Given the description of an element on the screen output the (x, y) to click on. 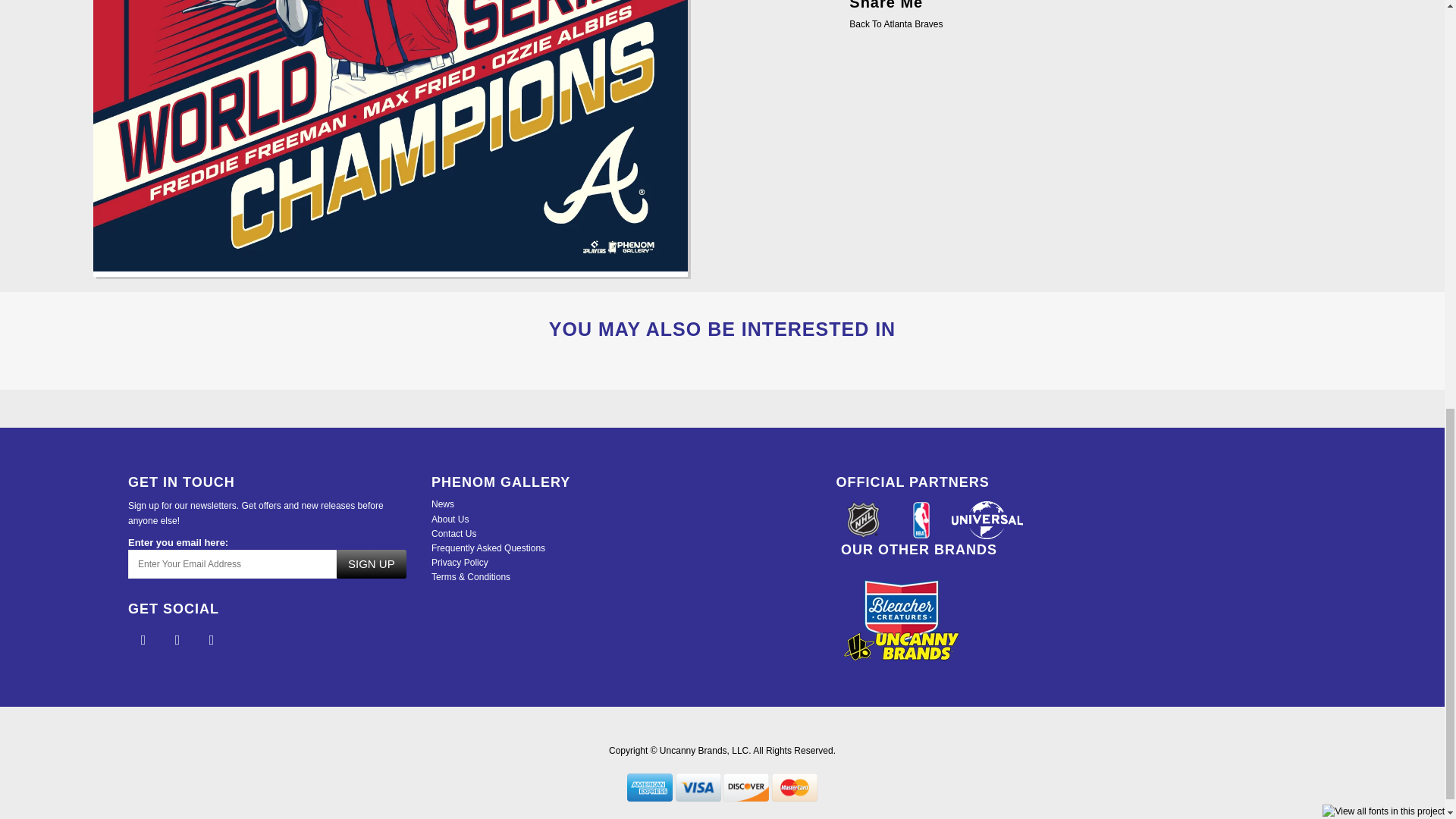
Sign Up (371, 563)
